Given the description of an element on the screen output the (x, y) to click on. 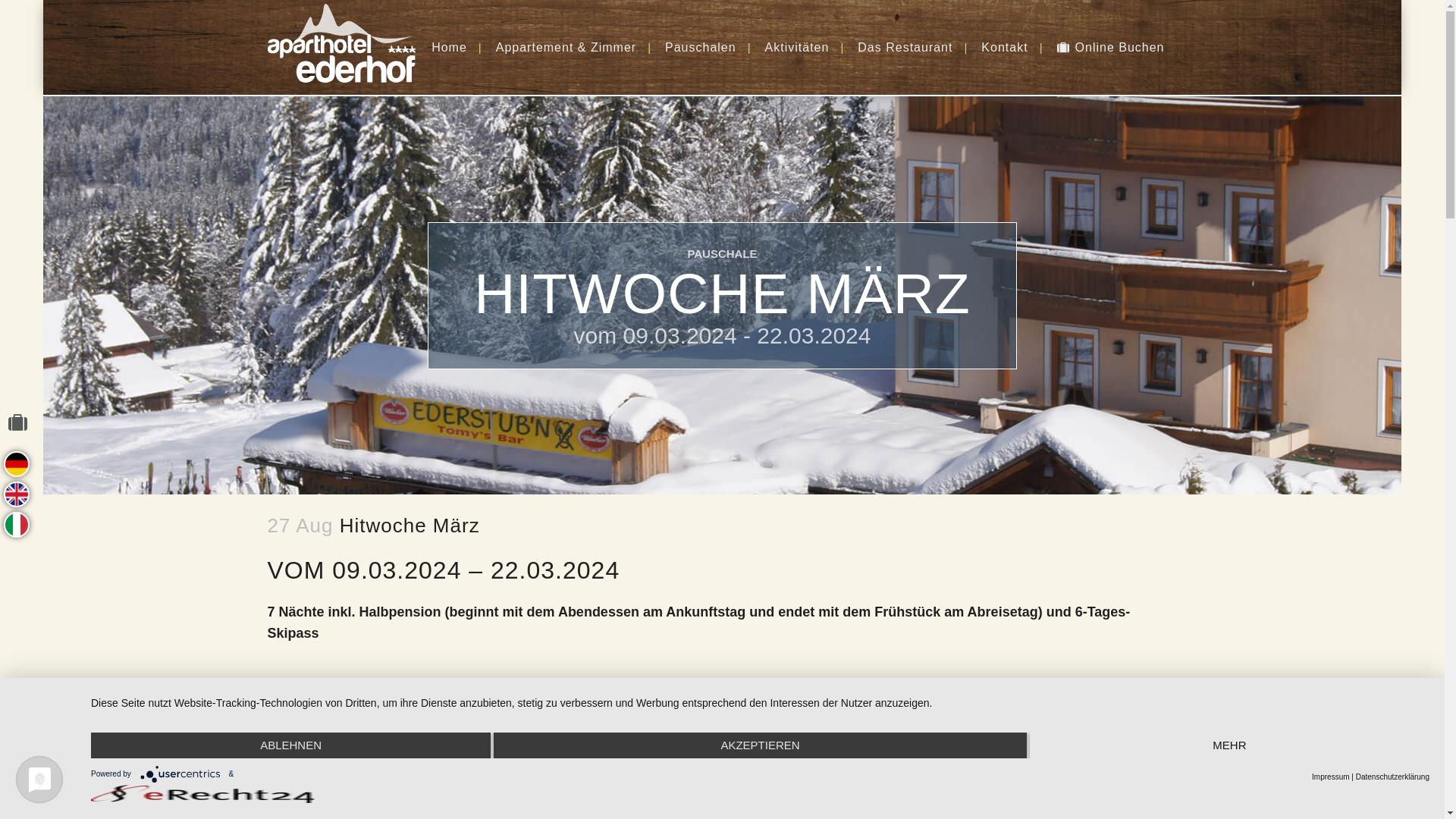
MEHR Element type: text (1229, 745)
online buchen Element type: text (23, 428)
ABLEHNEN Element type: text (290, 745)
Pauschalen Element type: text (700, 47)
Home Element type: text (449, 47)
Impressum Element type: text (1330, 777)
Das Restaurant Element type: text (904, 47)
Online Buchen Element type: text (1110, 47)
book Element type: text (15, 492)
AKZEPTIEREN Element type: text (759, 745)
buchen Element type: text (15, 462)
prenota Element type: text (15, 523)
Appartement & Zimmer Element type: text (566, 47)
Kontakt Element type: text (1004, 47)
